Given the description of an element on the screen output the (x, y) to click on. 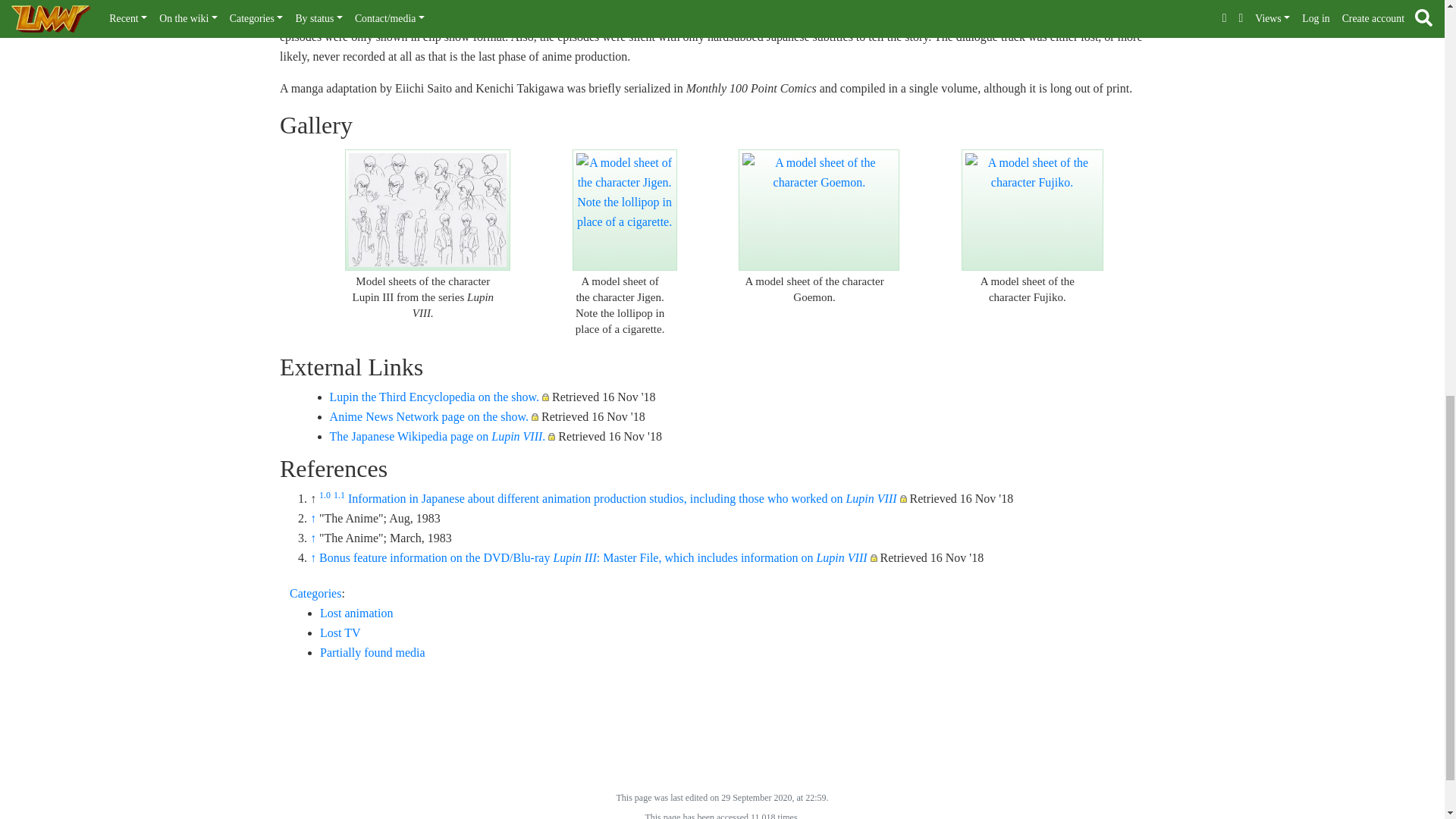
A model sheet of the character Fujiko. (1032, 209)
A model sheet of the character Goemon. (818, 209)
